Given the description of an element on the screen output the (x, y) to click on. 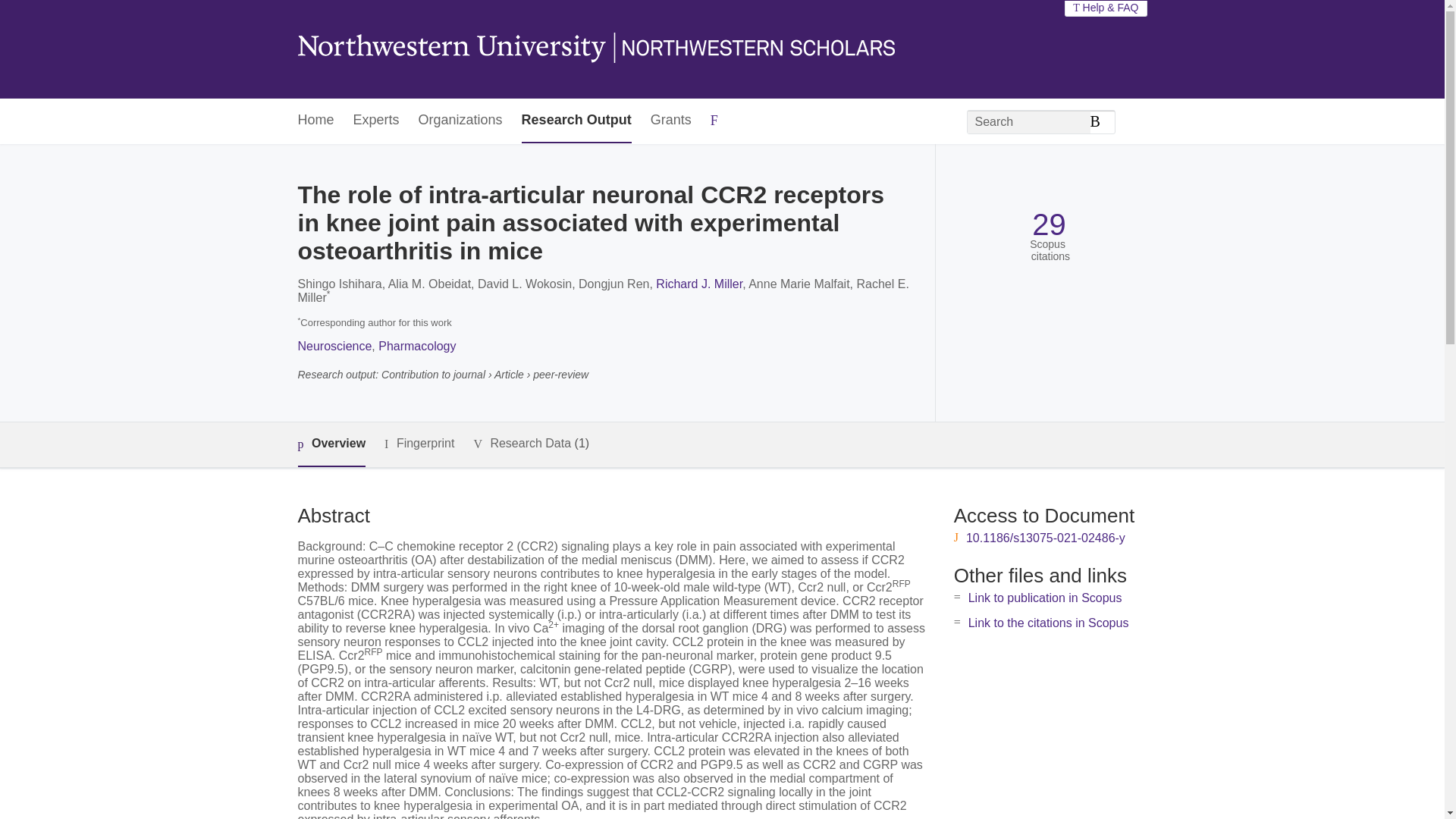
Link to the citations in Scopus (1048, 622)
Neuroscience (334, 345)
Experts (375, 120)
Richard J. Miller (699, 283)
Fingerprint (419, 444)
Northwestern Scholars Home (595, 49)
Research Output (576, 120)
Pharmacology (416, 345)
Organizations (460, 120)
